Given the description of an element on the screen output the (x, y) to click on. 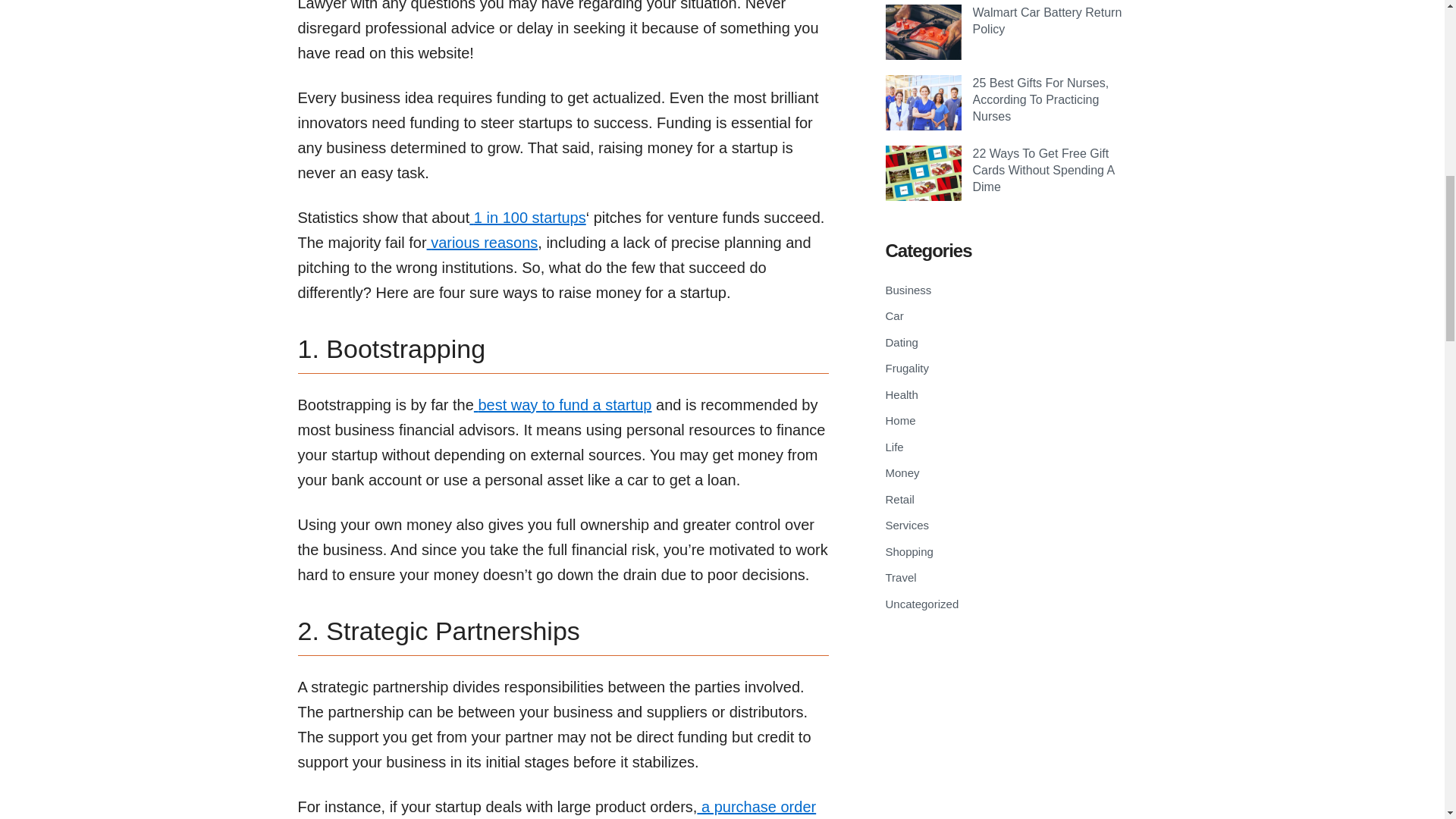
best way to fund a startup (563, 404)
Home (900, 420)
Health (901, 394)
Dating (901, 341)
Car (894, 315)
a purchase order financing (556, 808)
Frugality (907, 367)
Business (908, 289)
25 Best Gifts For Nurses, According To Practicing Nurses (1040, 99)
Life (894, 446)
